Given the description of an element on the screen output the (x, y) to click on. 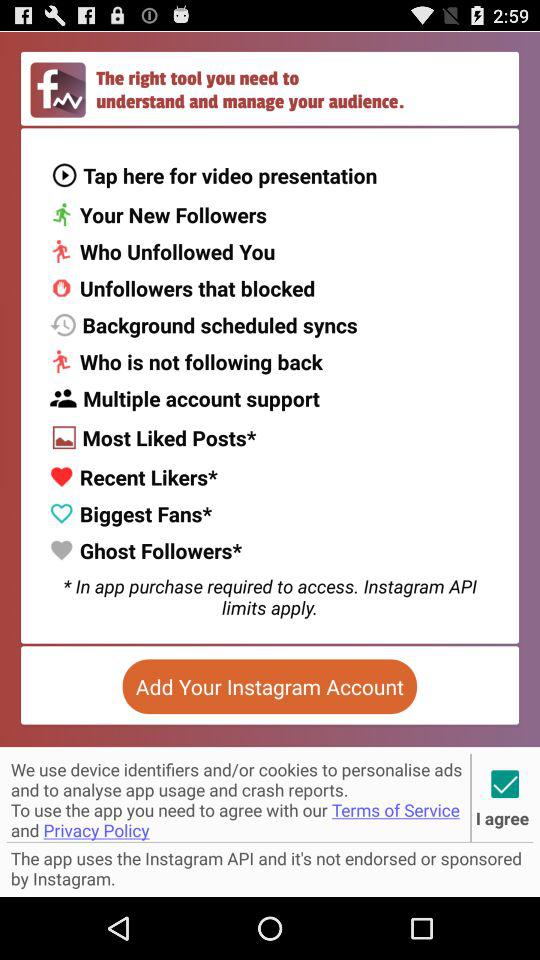
scroll until the tap here for (214, 174)
